Given the description of an element on the screen output the (x, y) to click on. 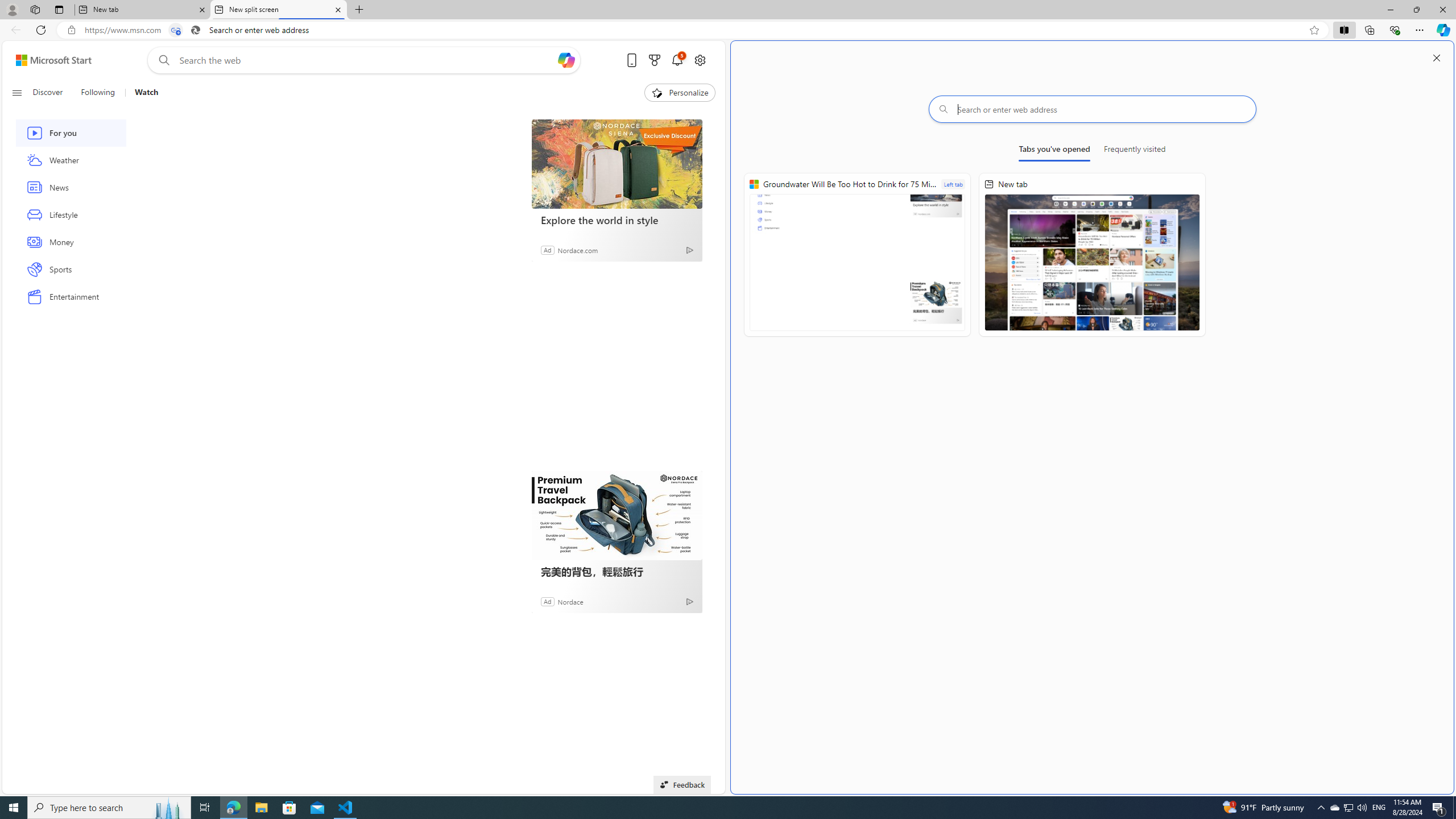
Explore the world in style (616, 219)
To get missing image descriptions, open the context menu. (656, 92)
Frequently visited (1134, 151)
Enter your search term (366, 59)
